Given the description of an element on the screen output the (x, y) to click on. 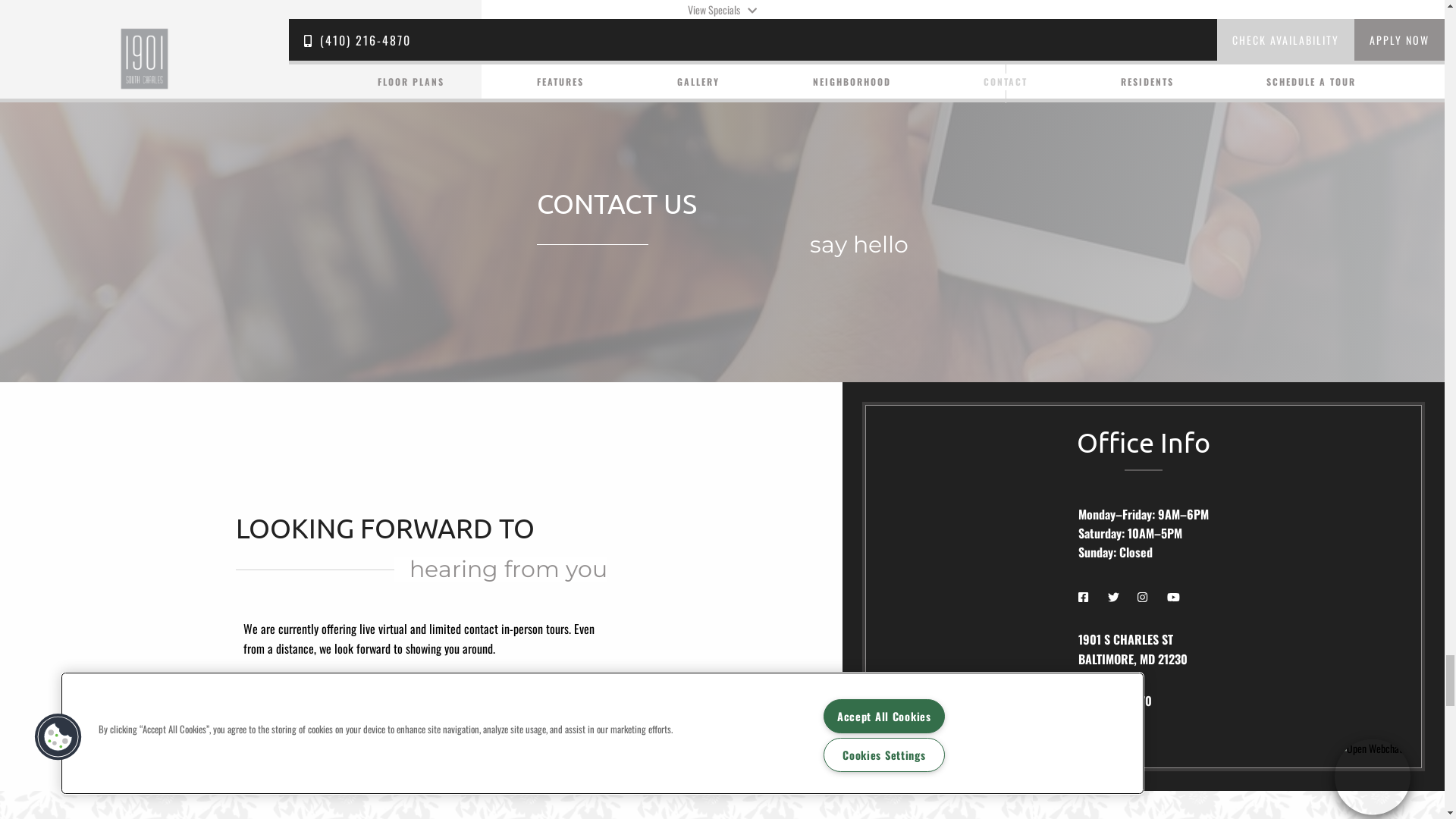
EXPLORE THE SITE Element type: text (1259, 670)
2 Element type: text (1425, 670)
Facebook Element type: hover (100, 674)
Instagram Element type: hover (158, 674)
1901 S CHARLES ST
BALTIMORE, MD 21230 Element type: text (144, 632)
1 Element type: text (1402, 670)
Home Element type: hover (144, 105)
YouTube Element type: hover (186, 674)
Twitter Element type: hover (129, 674)
